Given the description of an element on the screen output the (x, y) to click on. 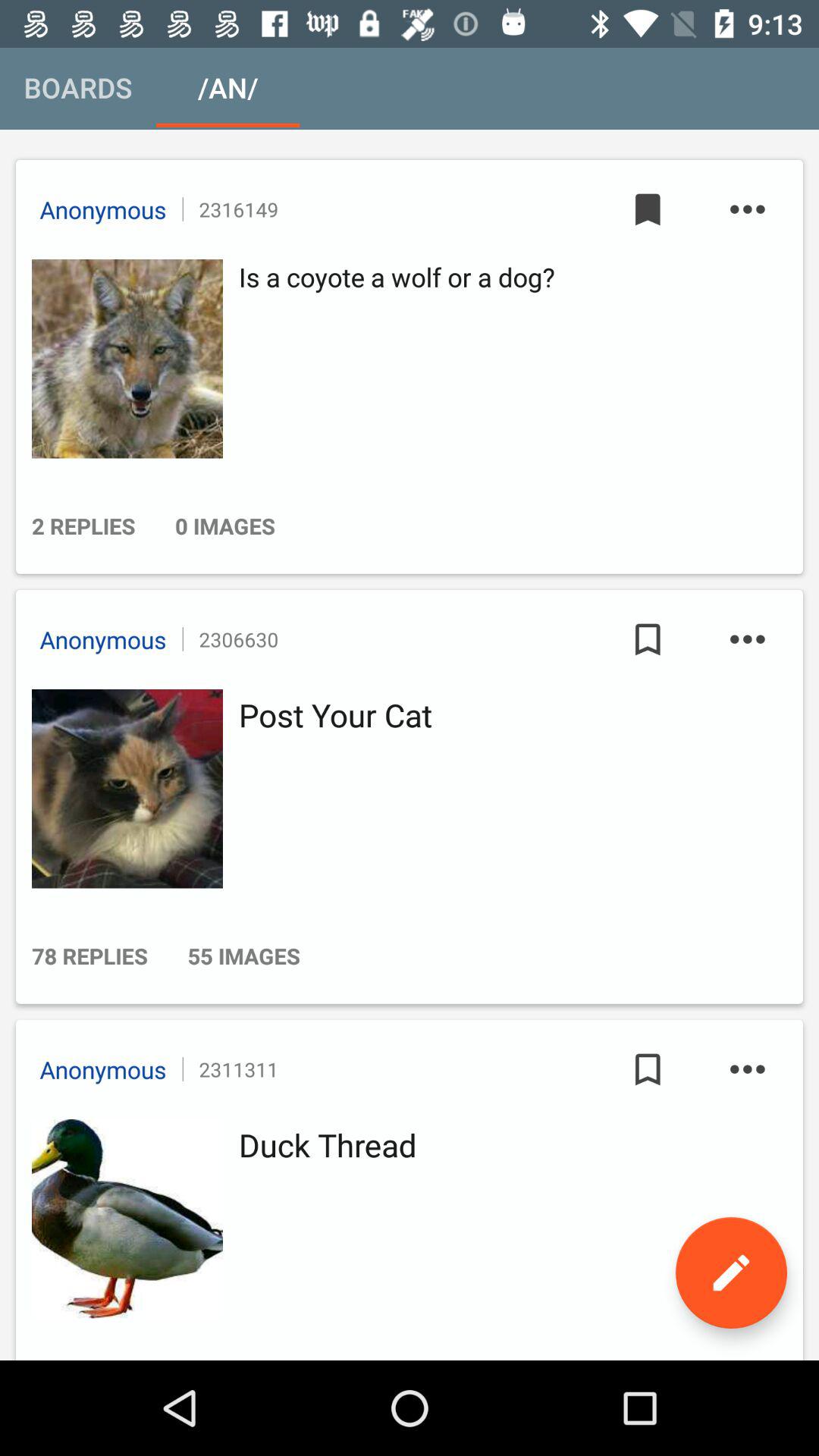
select thread (122, 1218)
